Given the description of an element on the screen output the (x, y) to click on. 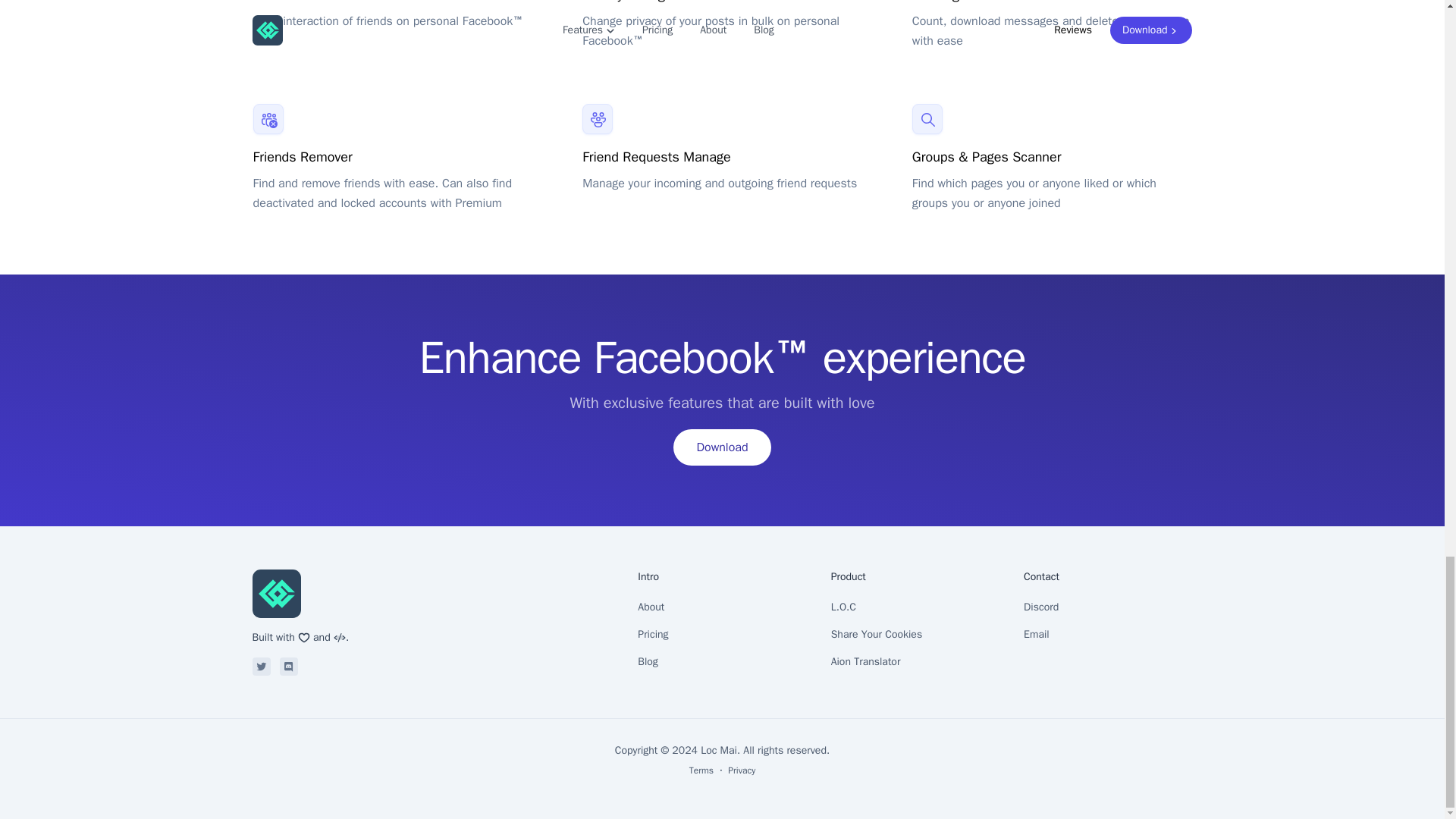
Discord (288, 666)
Twitter or X (260, 666)
Discord (1107, 606)
Privacy (741, 770)
Email (1107, 634)
Pricing (721, 634)
About (721, 606)
L.O.C (914, 606)
Blog (721, 661)
Aion Translator (914, 661)
Share Your Cookies (914, 634)
Terms (700, 770)
